Given the description of an element on the screen output the (x, y) to click on. 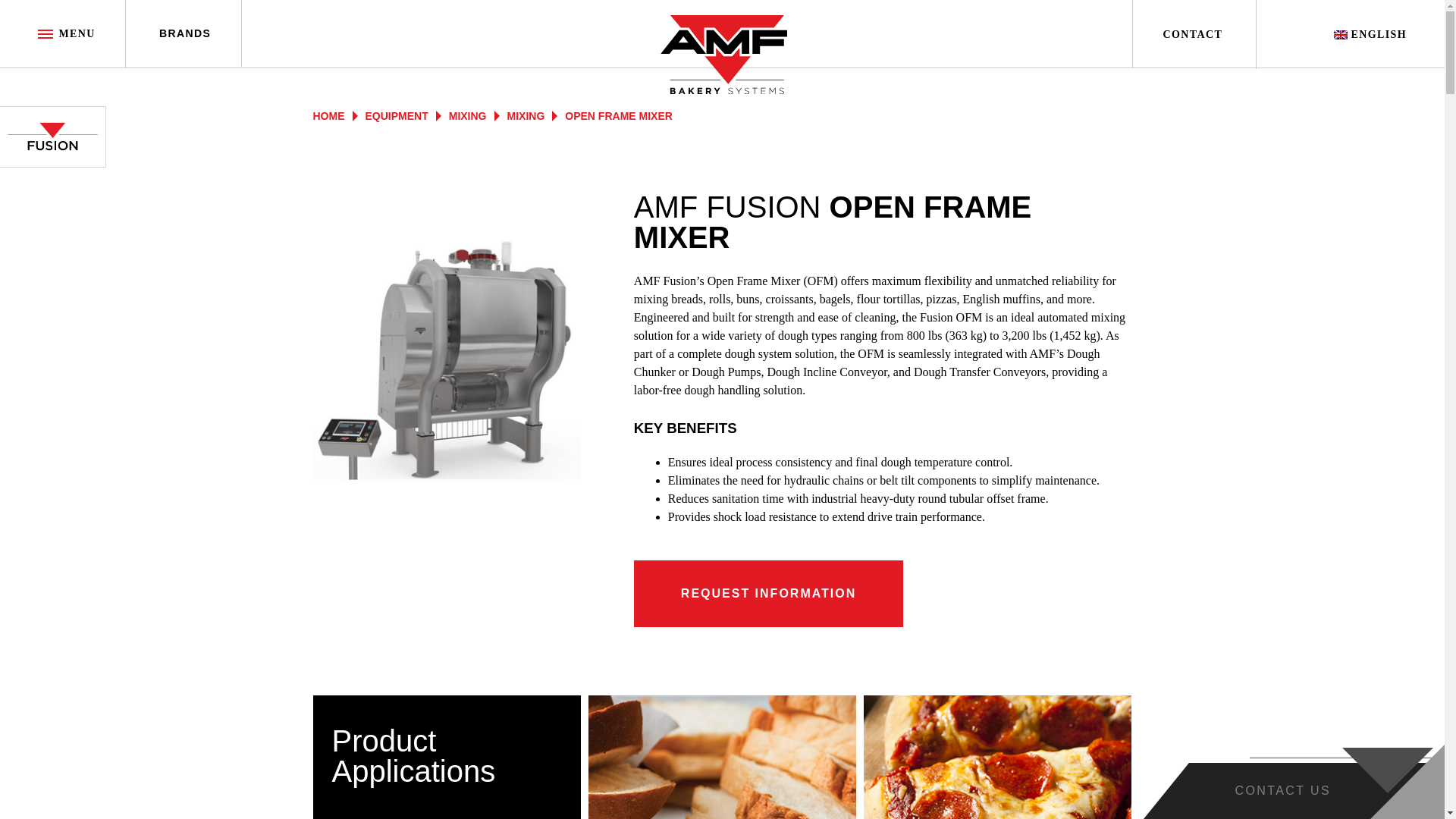
ENGLISH (1369, 34)
SEARCH (1293, 29)
CONTACT (1192, 34)
BRANDS (184, 33)
English (1369, 34)
